Given the description of an element on the screen output the (x, y) to click on. 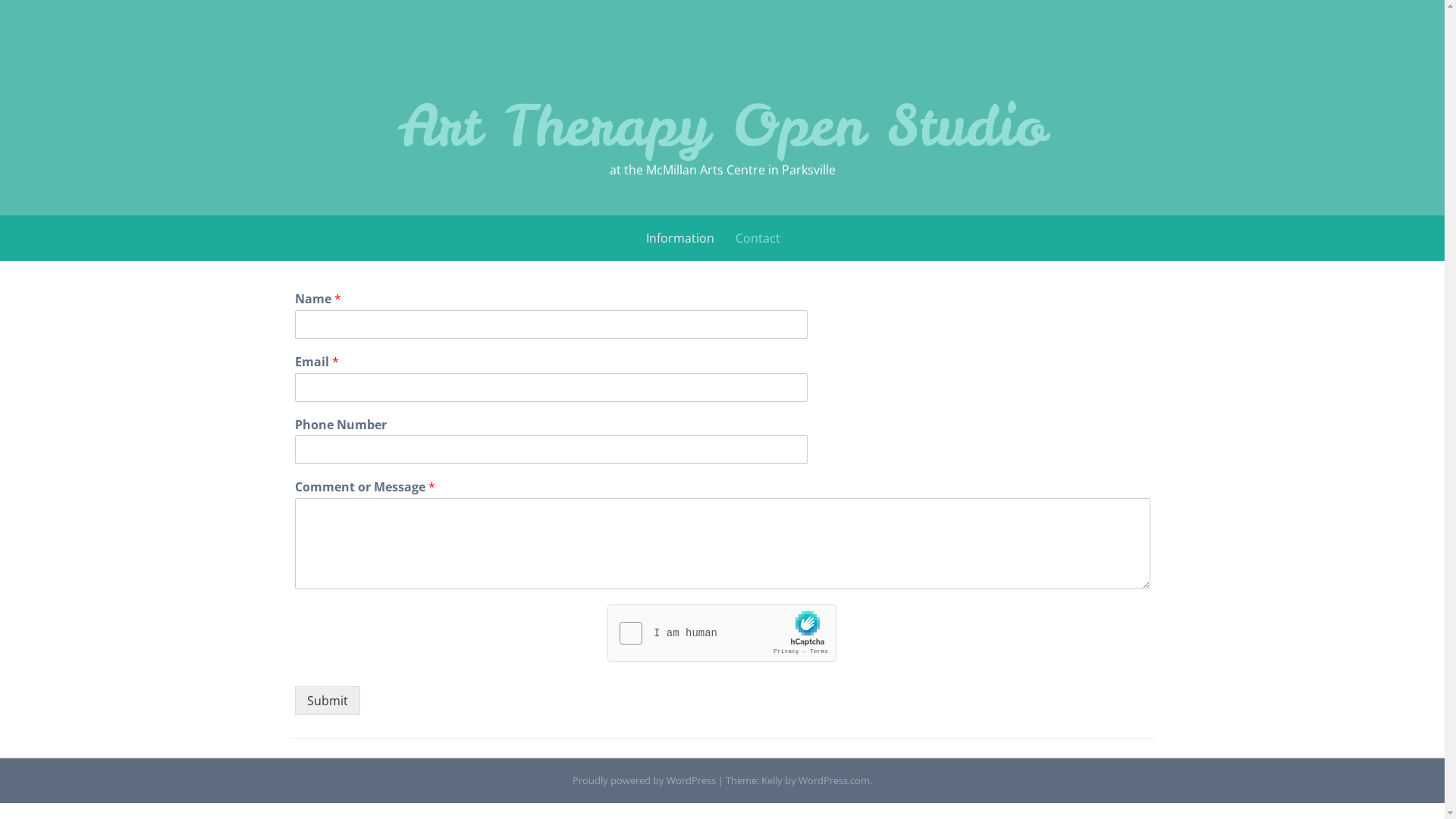
Contact Element type: text (757, 237)
Art Therapy Open Studio Element type: text (721, 125)
Widget containing checkbox for hCaptcha security challenge Element type: hover (722, 633)
Proudly powered by WordPress Element type: text (643, 780)
Submit Element type: text (326, 700)
WordPress.com Element type: text (833, 780)
Information Element type: text (680, 237)
